Given the description of an element on the screen output the (x, y) to click on. 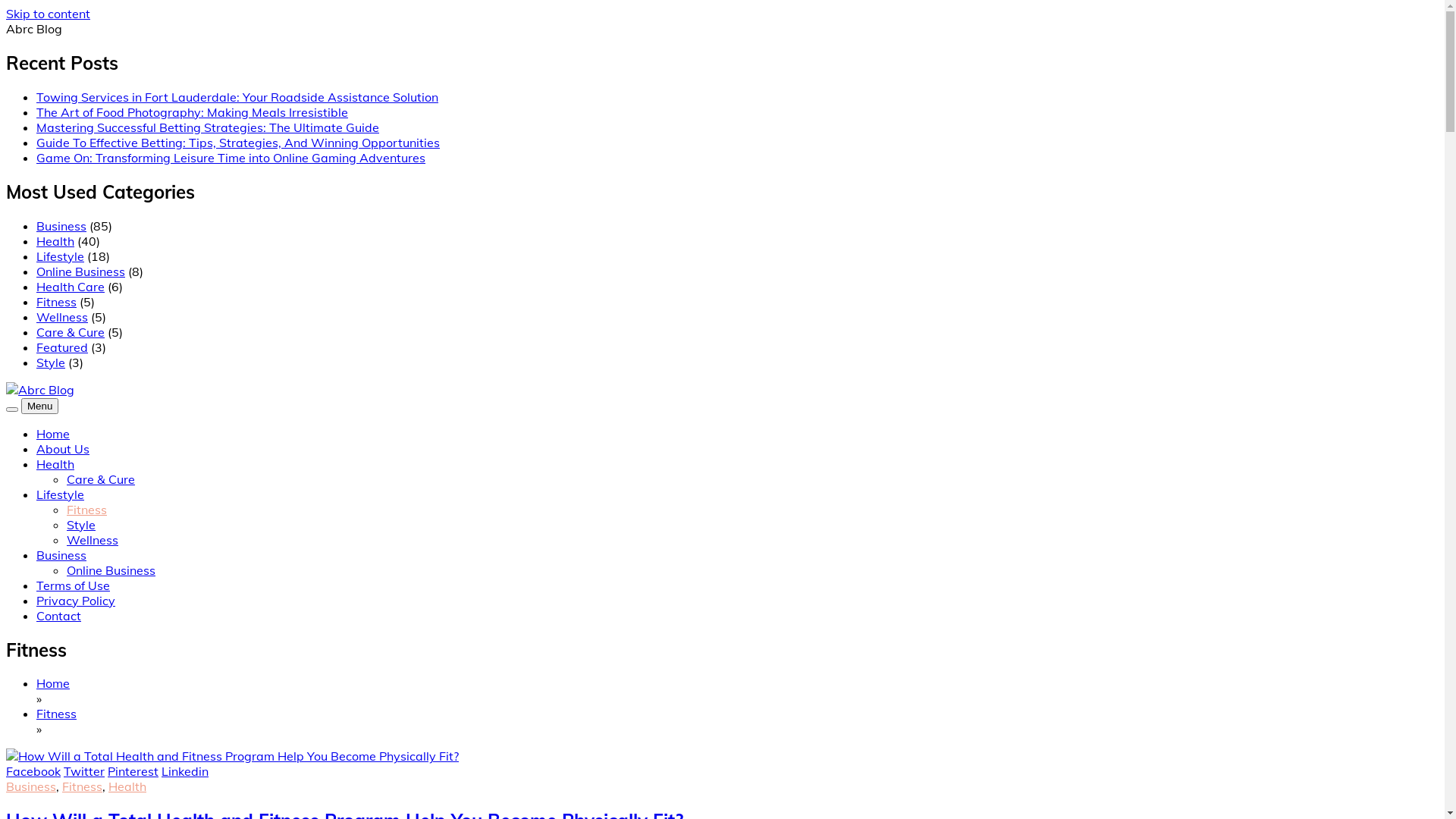
Business Element type: text (61, 225)
Facebook Element type: text (33, 770)
Linkedin Element type: text (184, 770)
Business Element type: text (61, 554)
Wellness Element type: text (92, 539)
Care & Cure Element type: text (70, 331)
About Us Element type: text (62, 448)
Health Element type: text (127, 785)
Online Business Element type: text (80, 271)
Twitter Element type: text (83, 770)
Health Element type: text (55, 240)
Business Element type: text (31, 785)
Pinterest Element type: text (132, 770)
The Art of Food Photography: Making Meals Irresistible Element type: text (192, 111)
Lifestyle Element type: text (60, 494)
Lifestyle Element type: text (60, 255)
Care & Cure Element type: text (100, 478)
Featured Element type: text (61, 346)
Health Care Element type: text (70, 286)
Online Business Element type: text (110, 569)
Mastering Successful Betting Strategies: The Ultimate Guide Element type: text (207, 126)
Style Element type: text (50, 362)
Fitness Element type: text (82, 785)
Menu Element type: text (39, 406)
Health Element type: text (55, 463)
Fitness Element type: text (56, 301)
Home Element type: text (52, 682)
Contact Element type: text (58, 615)
Terms of Use Element type: text (72, 585)
Wellness Element type: text (61, 316)
Style Element type: text (80, 524)
Skip to content Element type: text (48, 13)
Home Element type: text (52, 433)
Privacy Policy Element type: text (75, 600)
Abrc Blog Element type: text (48, 423)
Fitness Element type: text (56, 713)
Fitness Element type: text (86, 509)
